Given the description of an element on the screen output the (x, y) to click on. 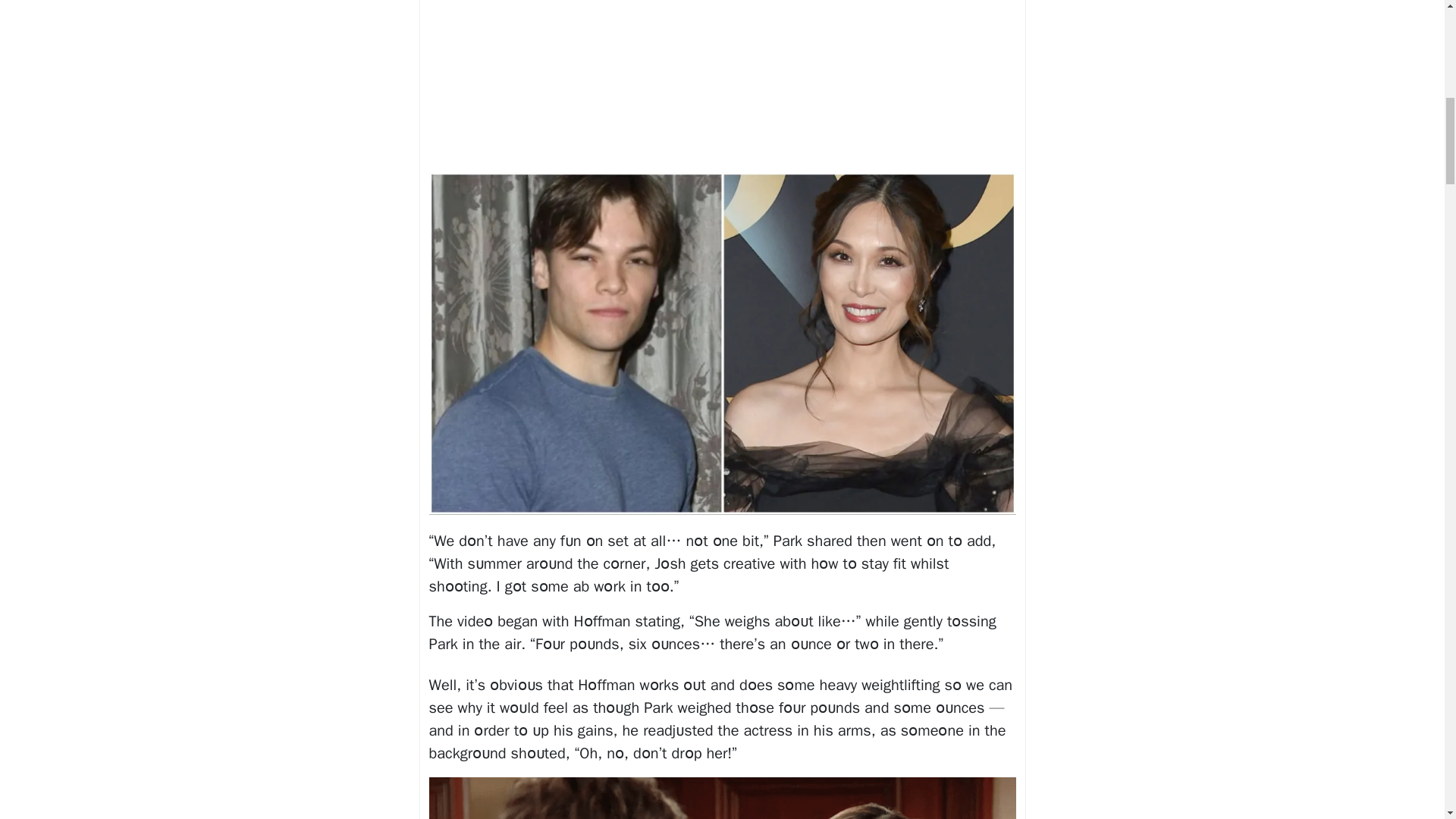
Advertisement (722, 83)
